Given the description of an element on the screen output the (x, y) to click on. 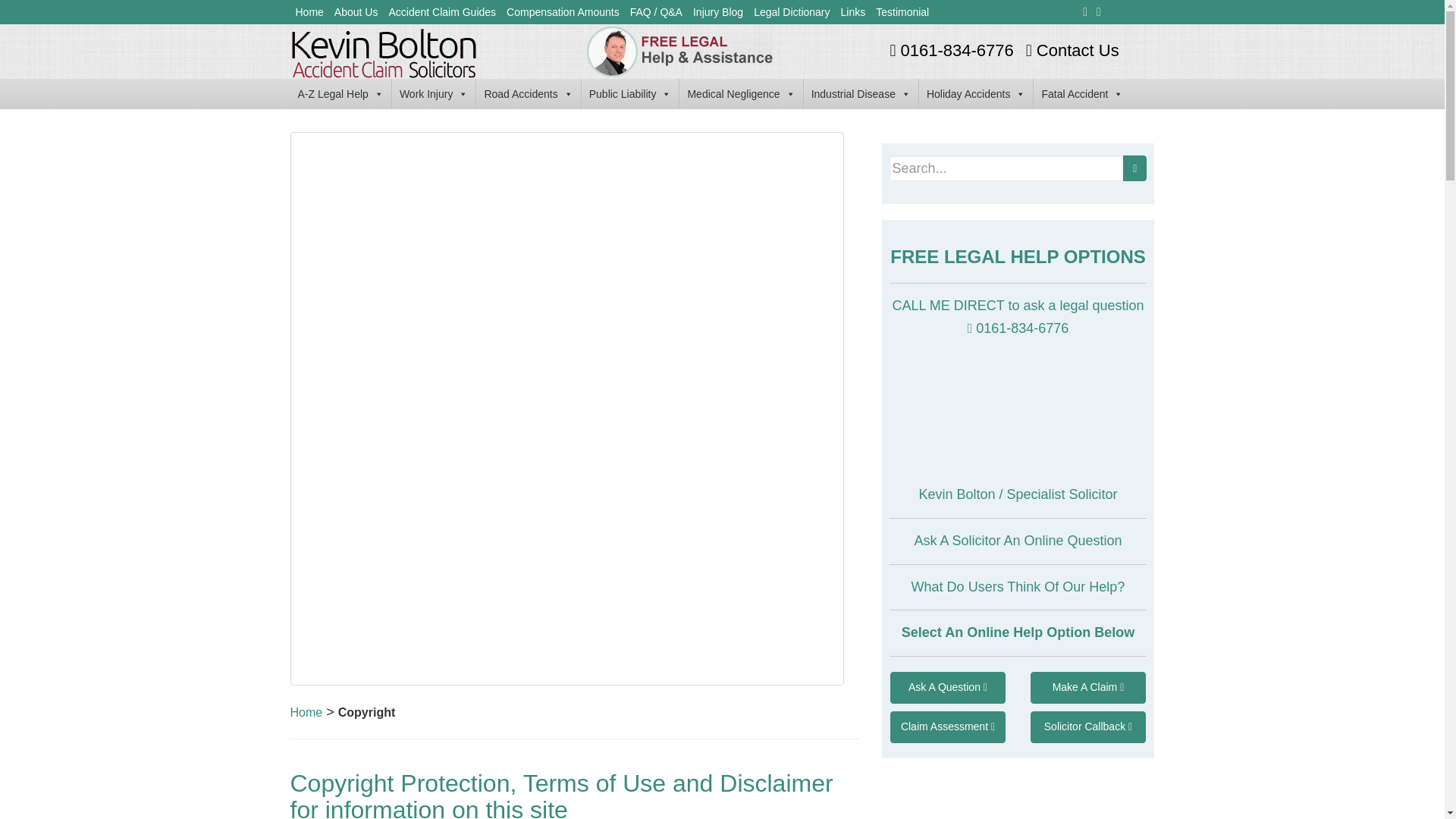
Testimonial (902, 12)
Accident Claim Guides (441, 12)
Home (309, 12)
Compensation Amounts (562, 12)
About Us (356, 12)
Contact Us (1070, 49)
Injury Blog (717, 12)
0161-834-6776 (949, 49)
Home (309, 12)
Injury Blog (717, 12)
Legal Dictionary (791, 12)
A-Z Legal Help (339, 93)
About Us (356, 12)
Testimonial (902, 12)
